Given the description of an element on the screen output the (x, y) to click on. 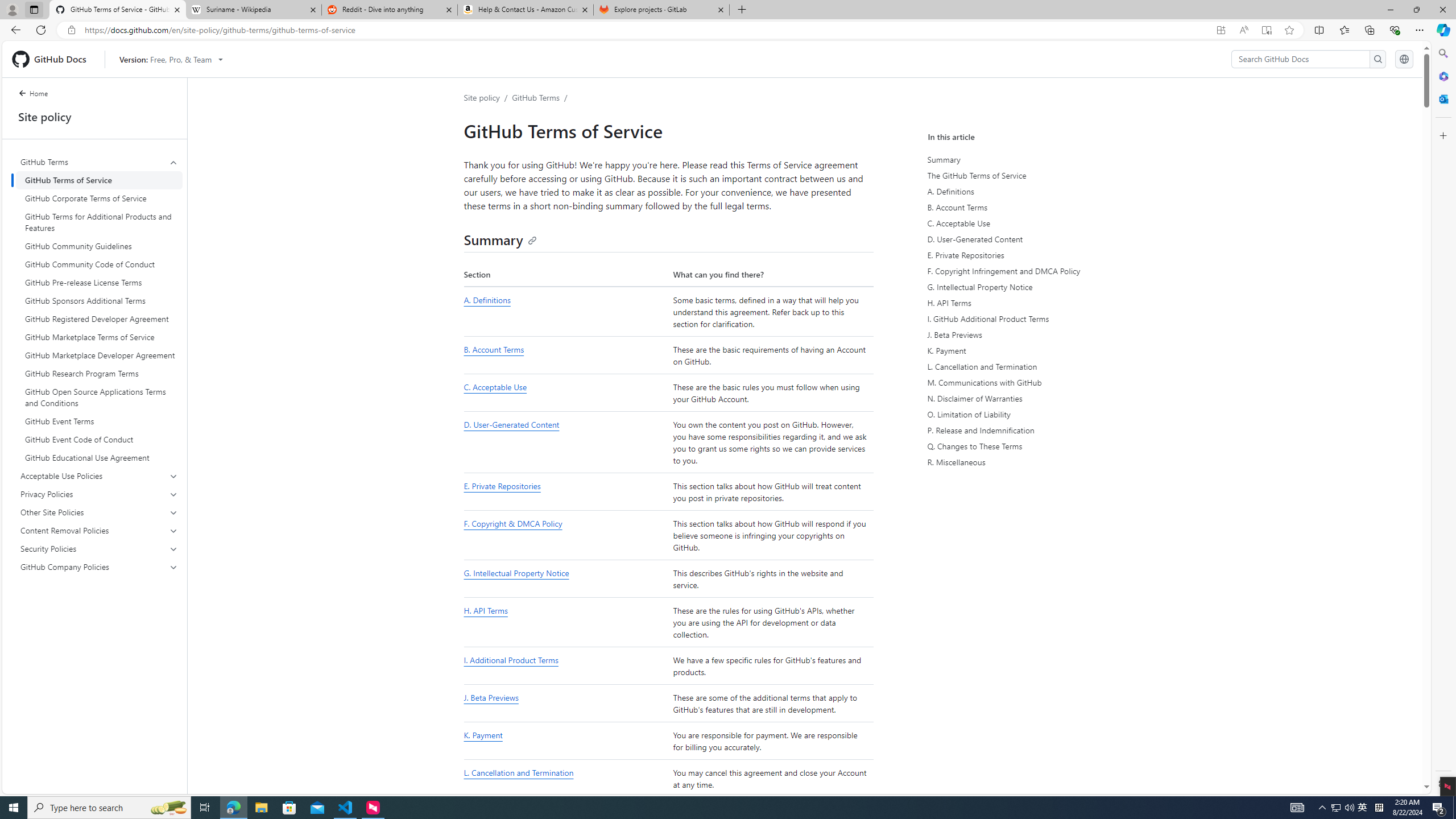
O. Limitation of Liability (1034, 414)
G. Intellectual Property Notice (516, 573)
N. Disclaimer of Warranties (1034, 398)
GitHub Educational Use Agreement (99, 457)
